Given the description of an element on the screen output the (x, y) to click on. 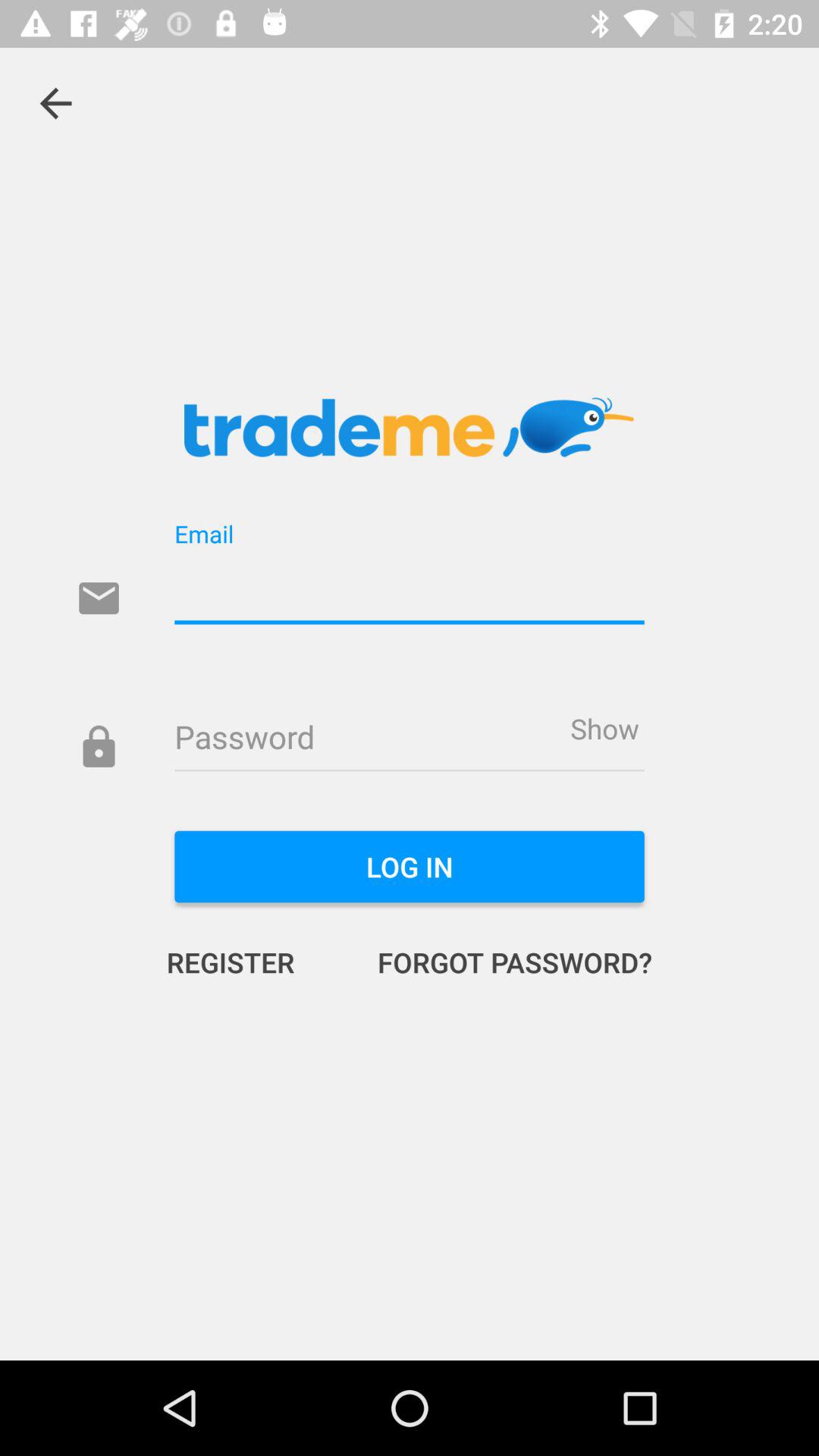
click item above log in item (604, 728)
